Given the description of an element on the screen output the (x, y) to click on. 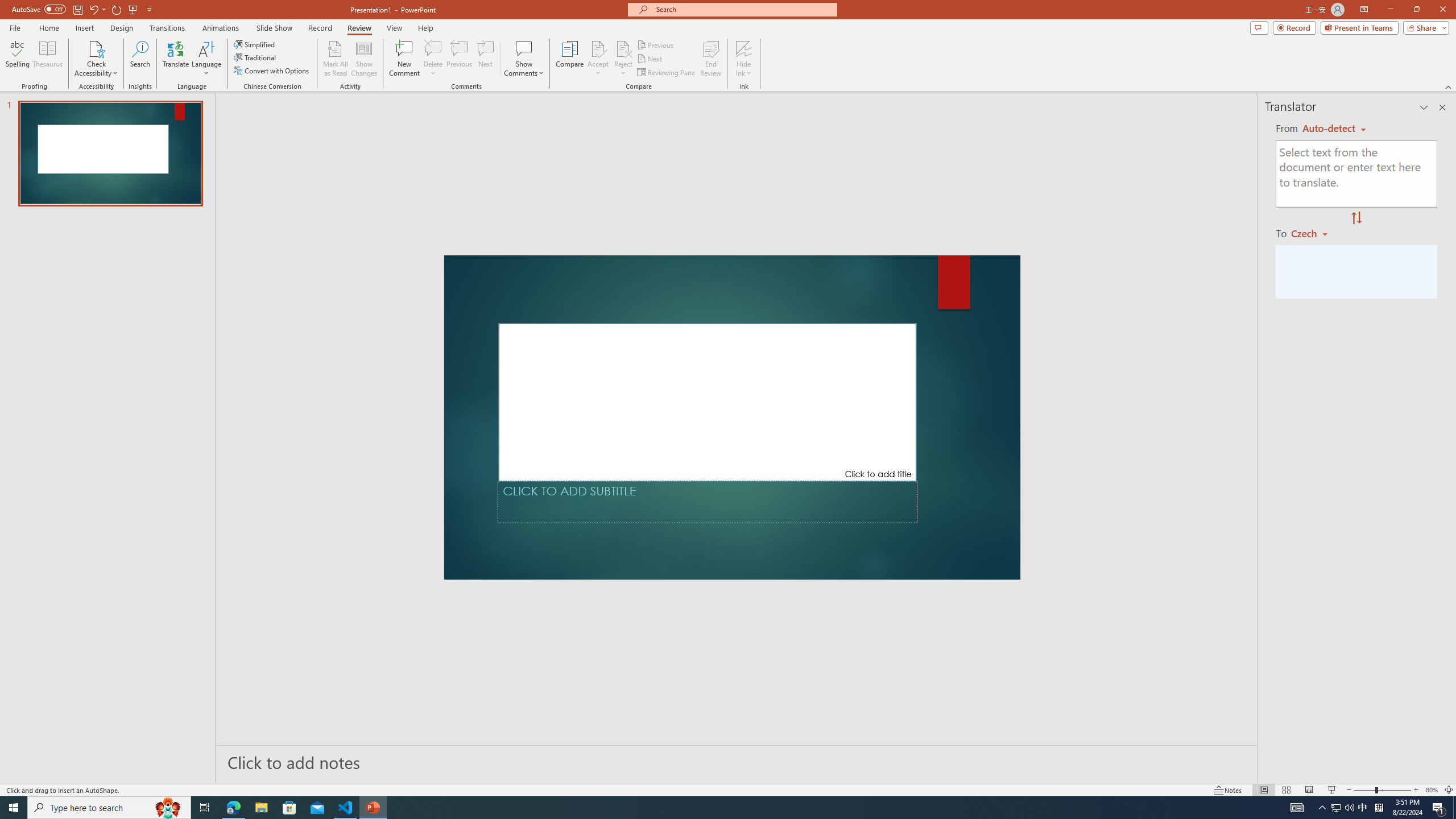
Show Comments (524, 58)
End Review (710, 58)
